Given the description of an element on the screen output the (x, y) to click on. 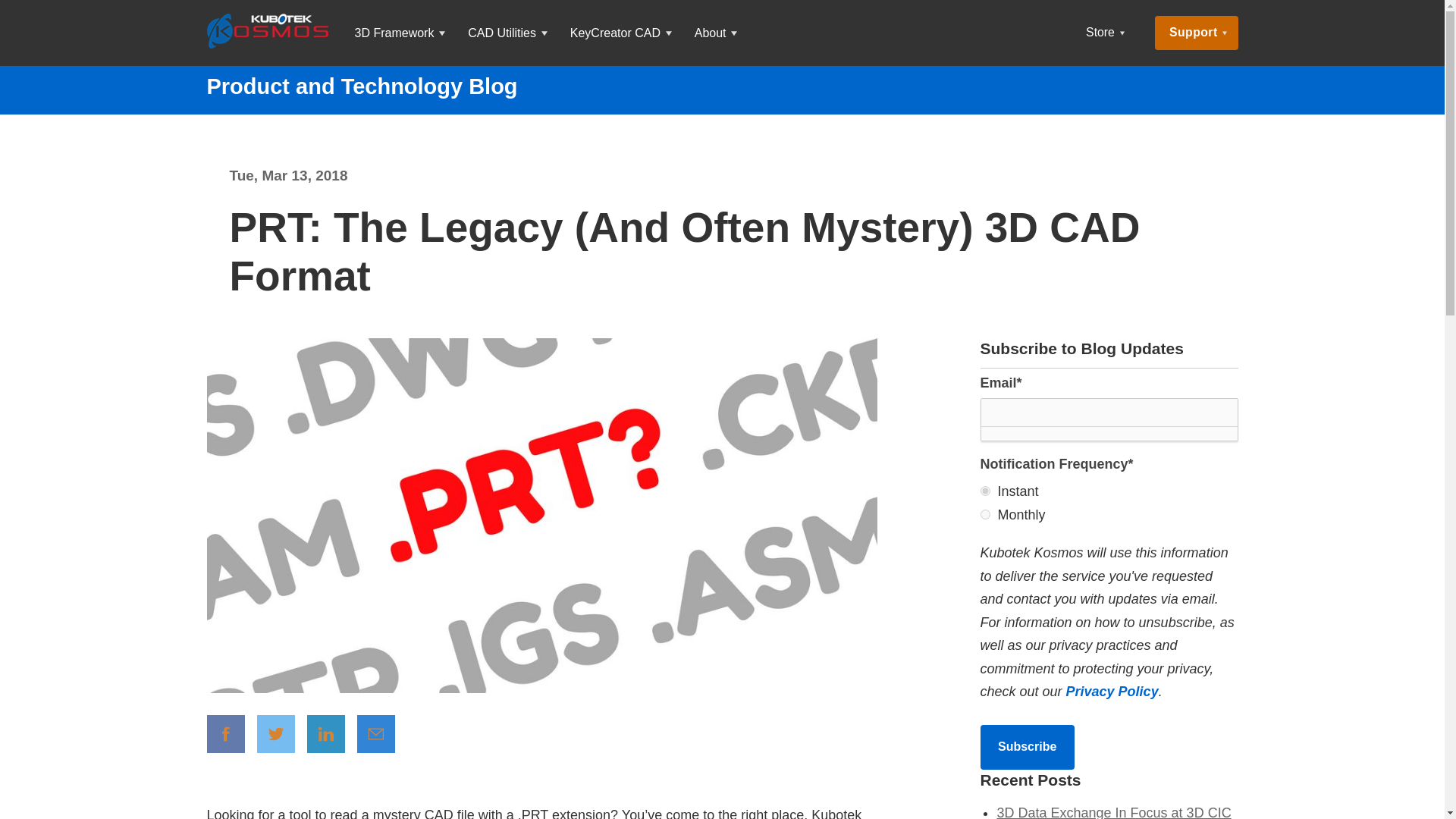
Share on Facebook (225, 733)
Tweet on Twitter (276, 733)
Share on LinkedIn (326, 733)
About (715, 32)
3D Framework (399, 32)
monthly (984, 514)
Store (1105, 33)
CAD Utilities (506, 32)
Subscribe (1026, 746)
Email (375, 733)
KeyCreator CAD (619, 32)
Support (1195, 32)
instant (984, 491)
